Given the description of an element on the screen output the (x, y) to click on. 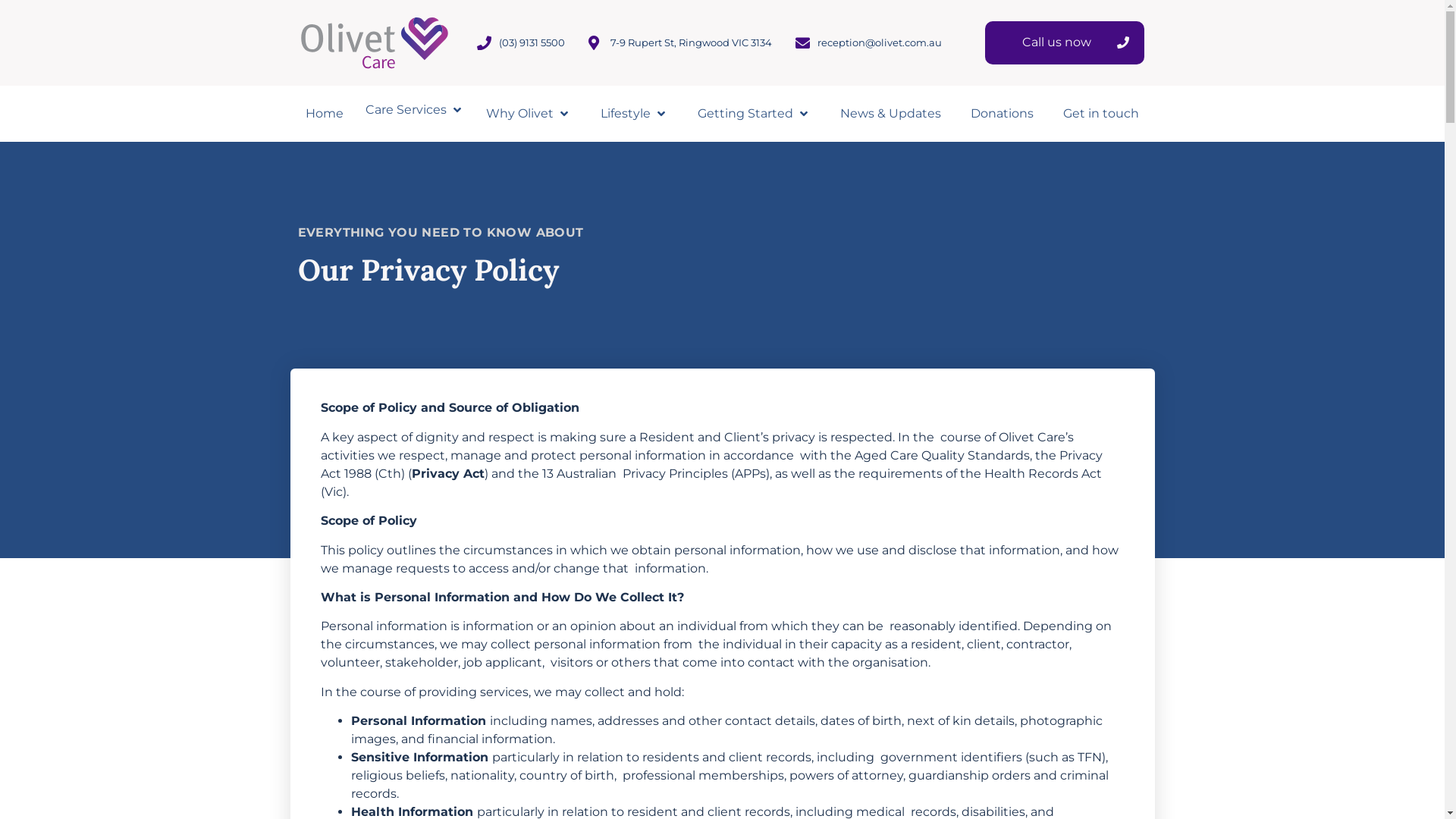
News & Updates Element type: text (890, 113)
Call us now Element type: text (1064, 42)
Getting Started Element type: text (745, 113)
Get in touch Element type: text (1101, 113)
Donations Element type: text (1001, 113)
Care Services Element type: text (405, 109)
Home Element type: text (323, 113)
Lifestyle Element type: text (625, 113)
Why Olivet Element type: text (519, 113)
